Given the description of an element on the screen output the (x, y) to click on. 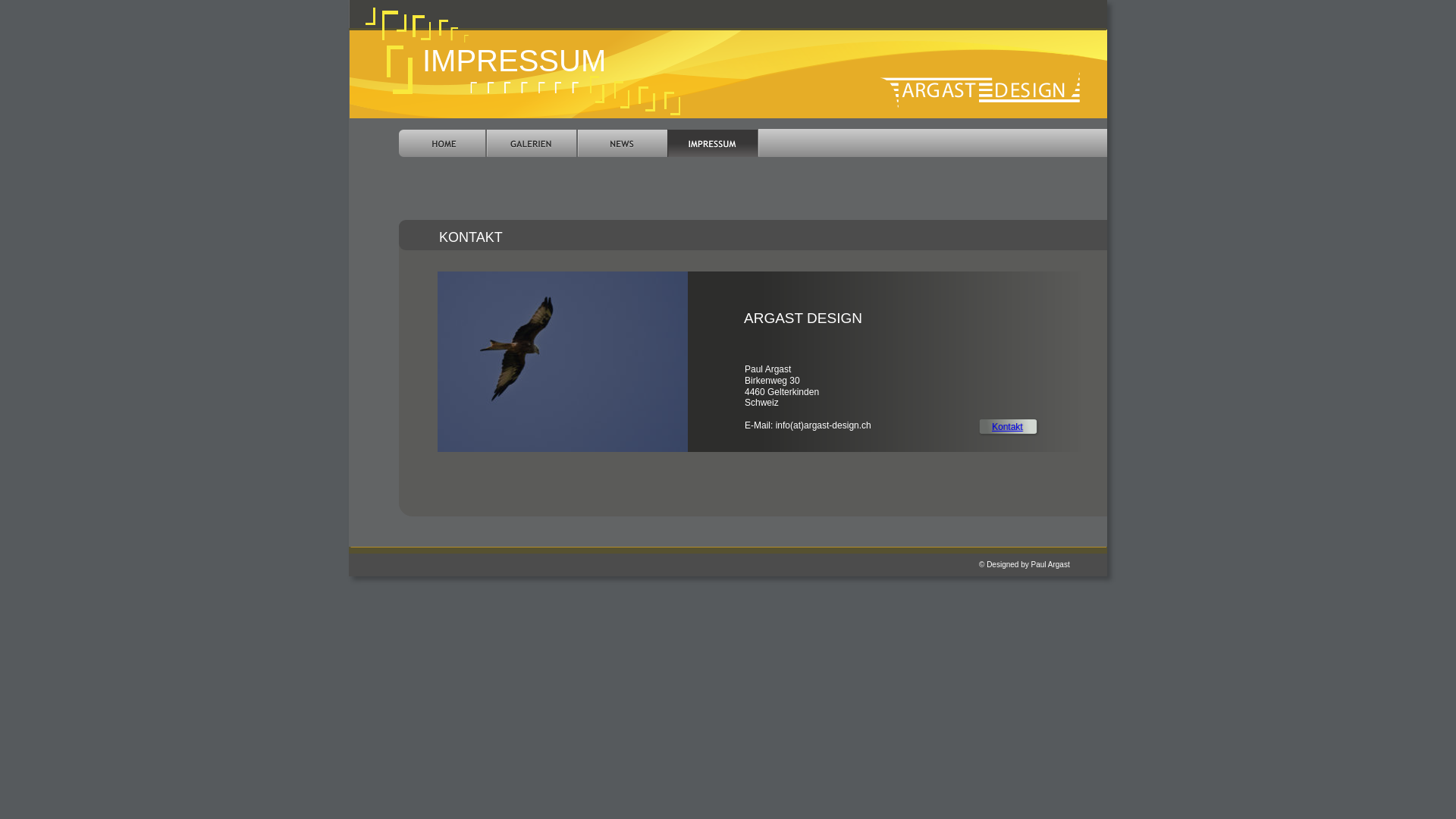
Kontakt Element type: text (1006, 426)
